Given the description of an element on the screen output the (x, y) to click on. 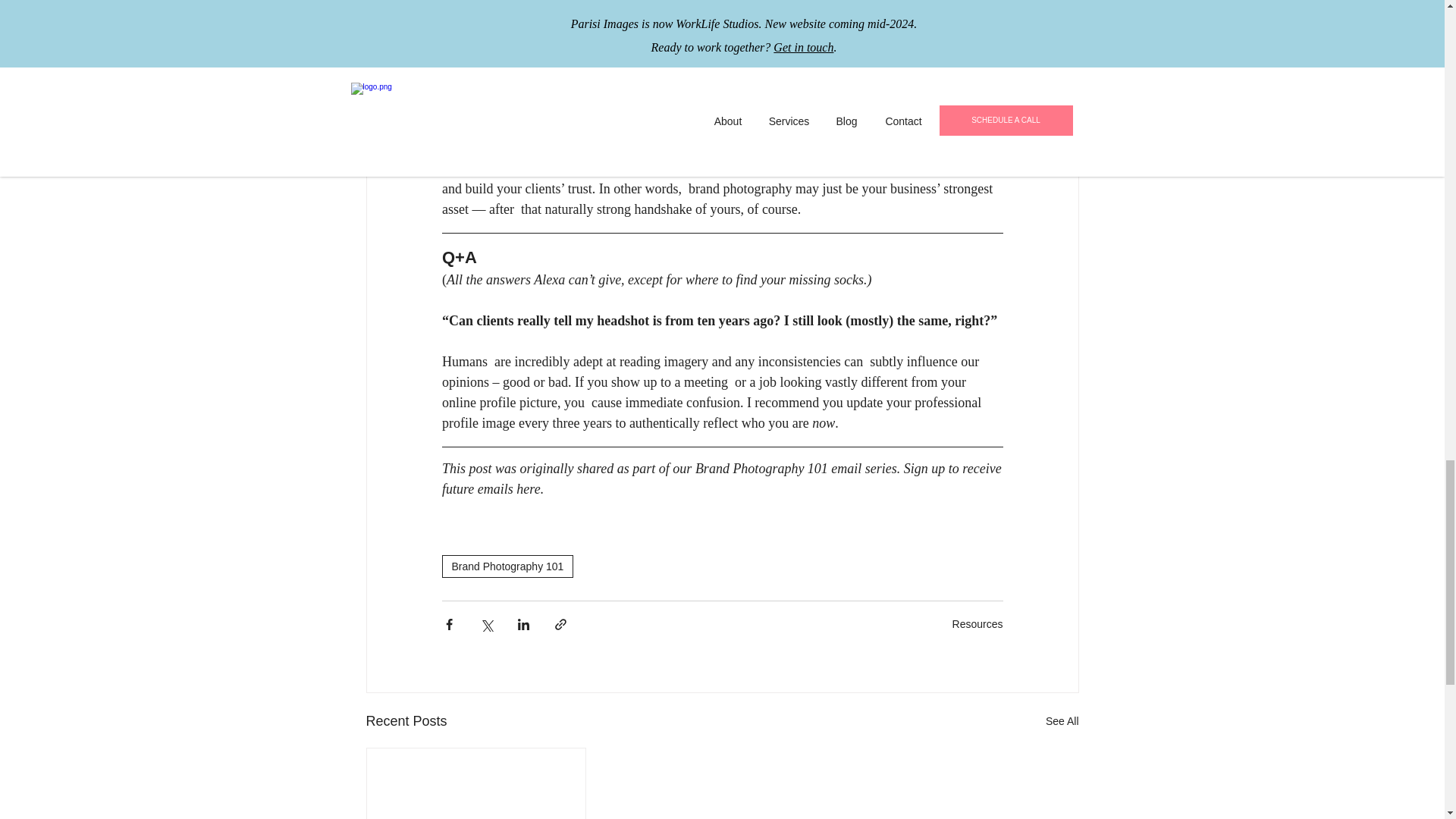
Brand Photography 101 (507, 566)
Resources (977, 623)
See All (1061, 721)
